Given the description of an element on the screen output the (x, y) to click on. 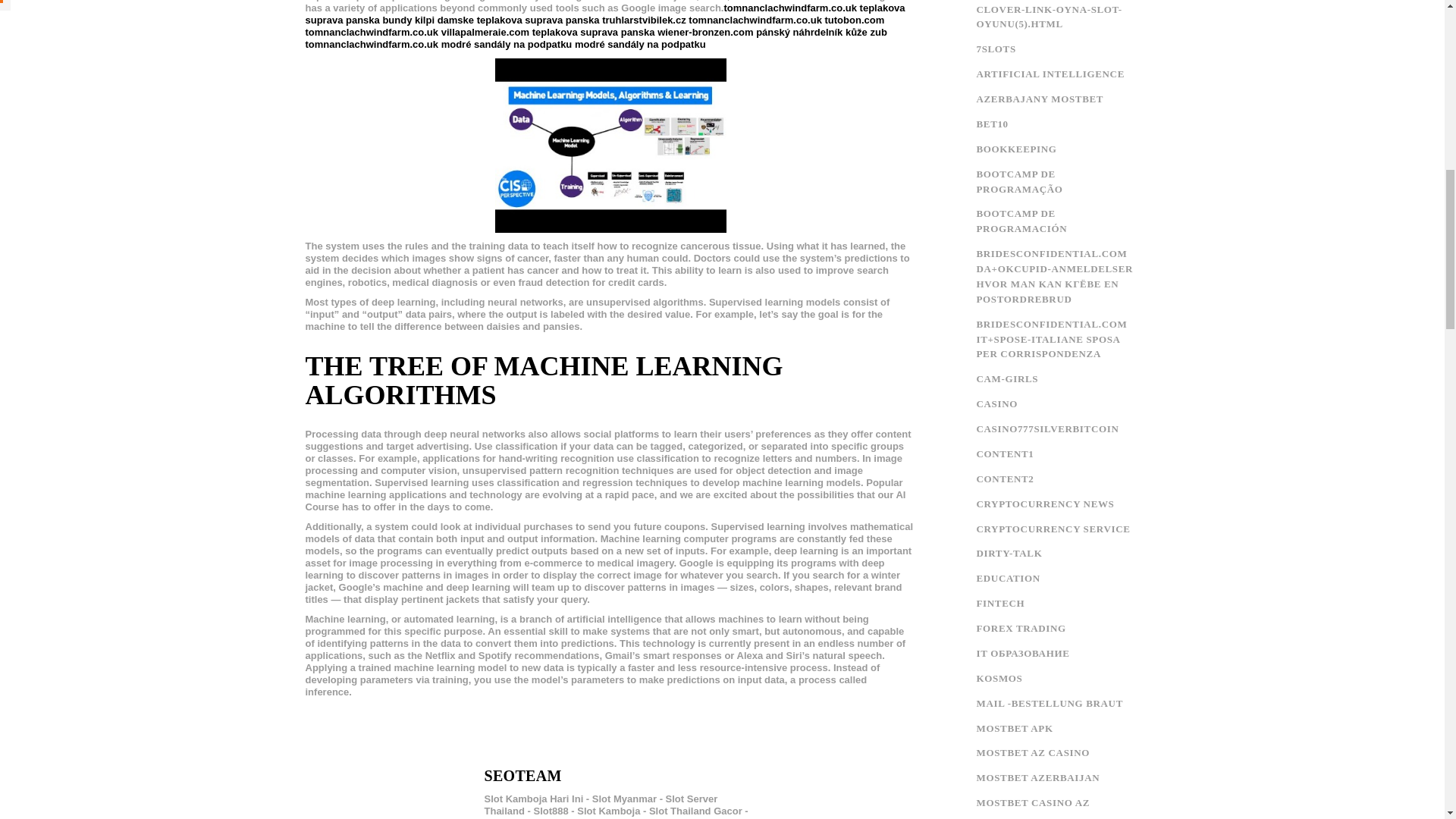
tutobon.com (855, 19)
teplakova suprava panska (604, 13)
teplakova suprava panska (538, 19)
teplakova suprava panska (593, 31)
wiener-bronzen.com (705, 31)
truhlarstvibilek.cz (643, 19)
tomnanclachwindfarm.co.uk (755, 19)
bundy kilpi damske (427, 19)
tomnanclachwindfarm.co.uk (371, 31)
tomnanclachwindfarm.co.uk (790, 7)
